Given the description of an element on the screen output the (x, y) to click on. 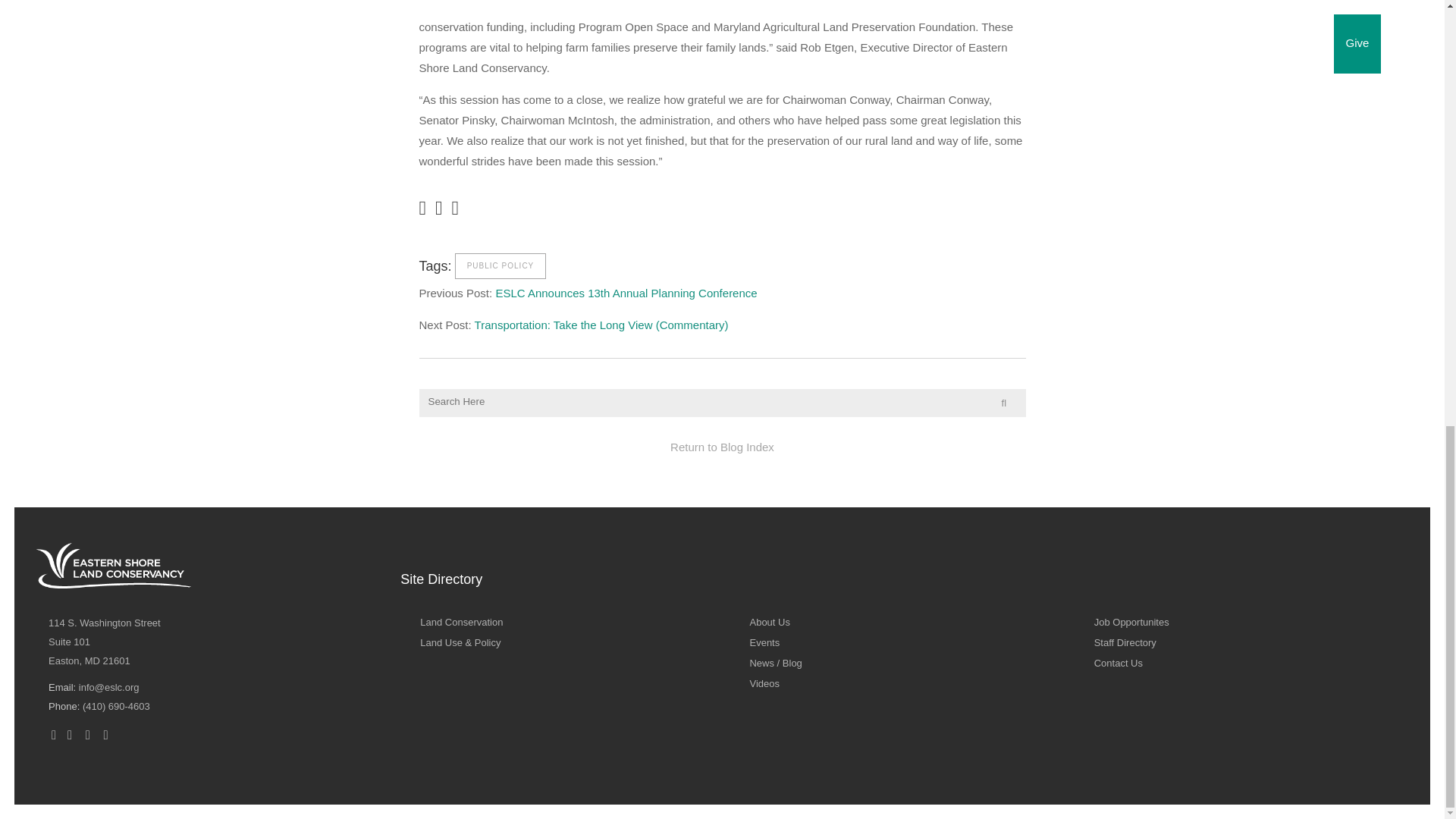
Return to Blog Index (721, 446)
PUBLIC POLICY (500, 266)
Land Conservation (104, 641)
ESLC Announces 13th Annual Planning Conference (461, 622)
